Given the description of an element on the screen output the (x, y) to click on. 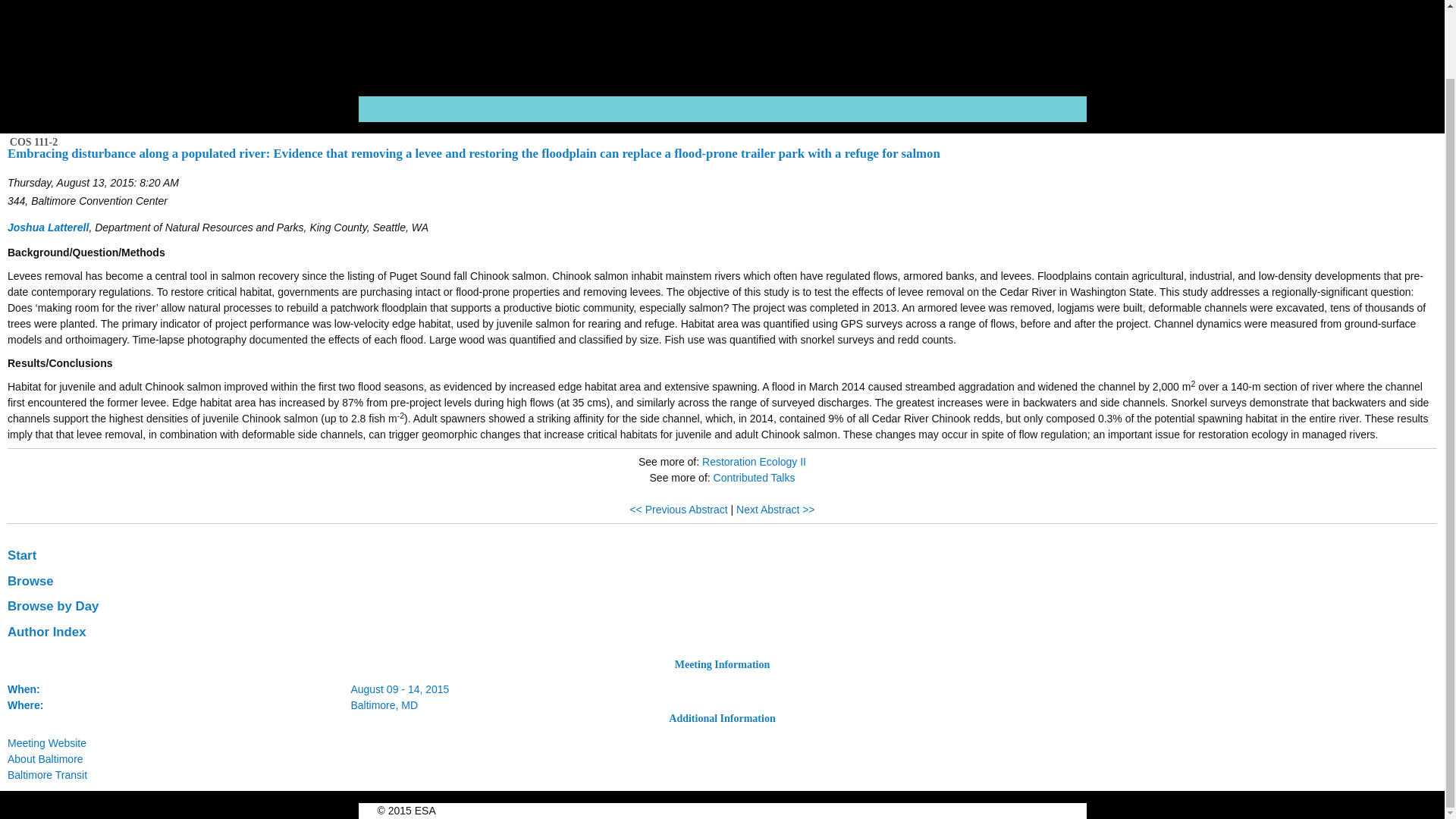
About Baltimore (44, 758)
Contributed Talks (753, 477)
Baltimore Transit (47, 775)
Meeting Website (46, 743)
Joshua Latterell (47, 227)
Restoration Ecology II (753, 461)
